Given the description of an element on the screen output the (x, y) to click on. 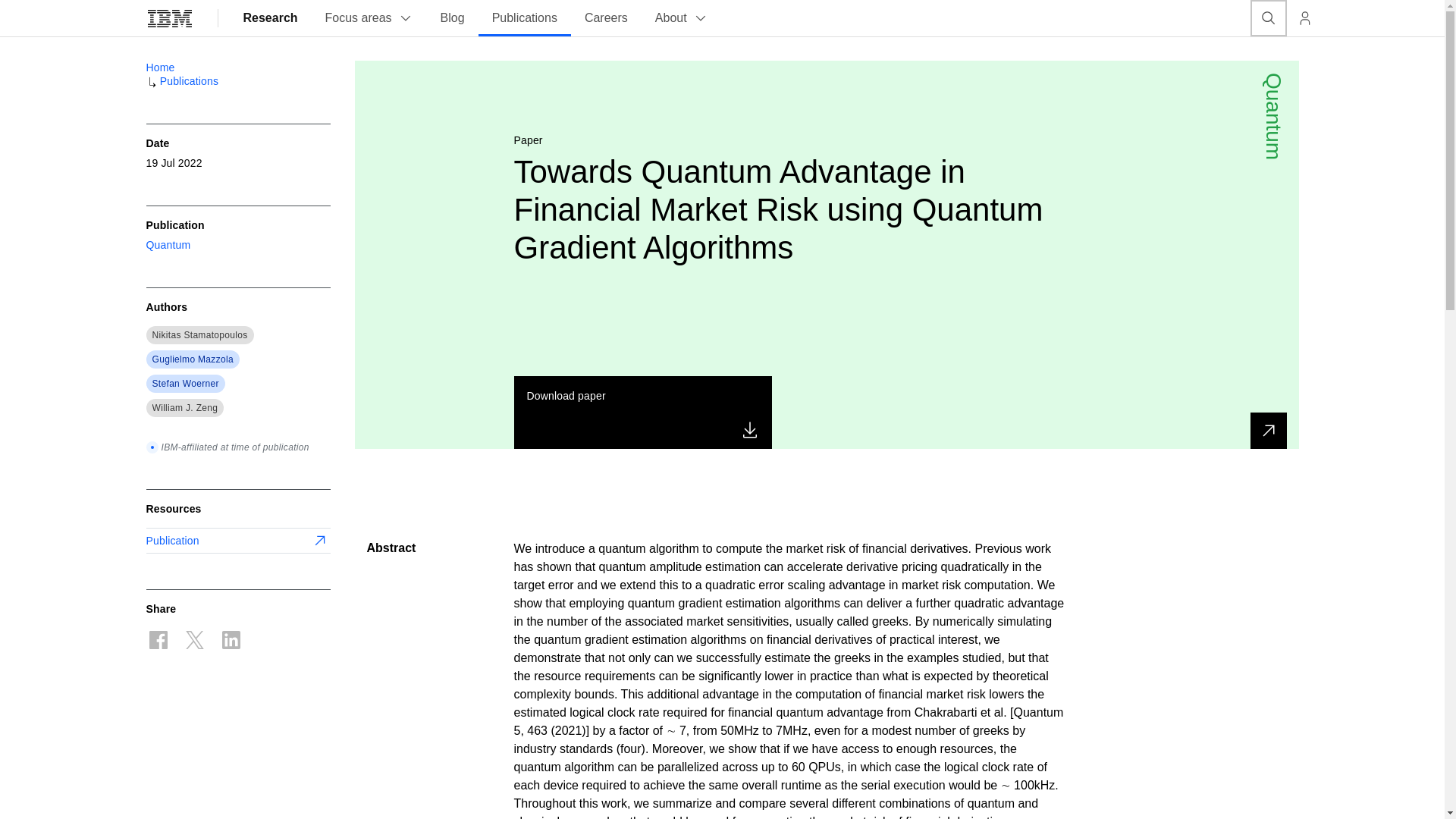
Stefan Woerner (184, 383)
Nikitas Stamatopoulos (199, 335)
Guglielmo Mazzola (191, 358)
William J. Zeng (183, 408)
